Given the description of an element on the screen output the (x, y) to click on. 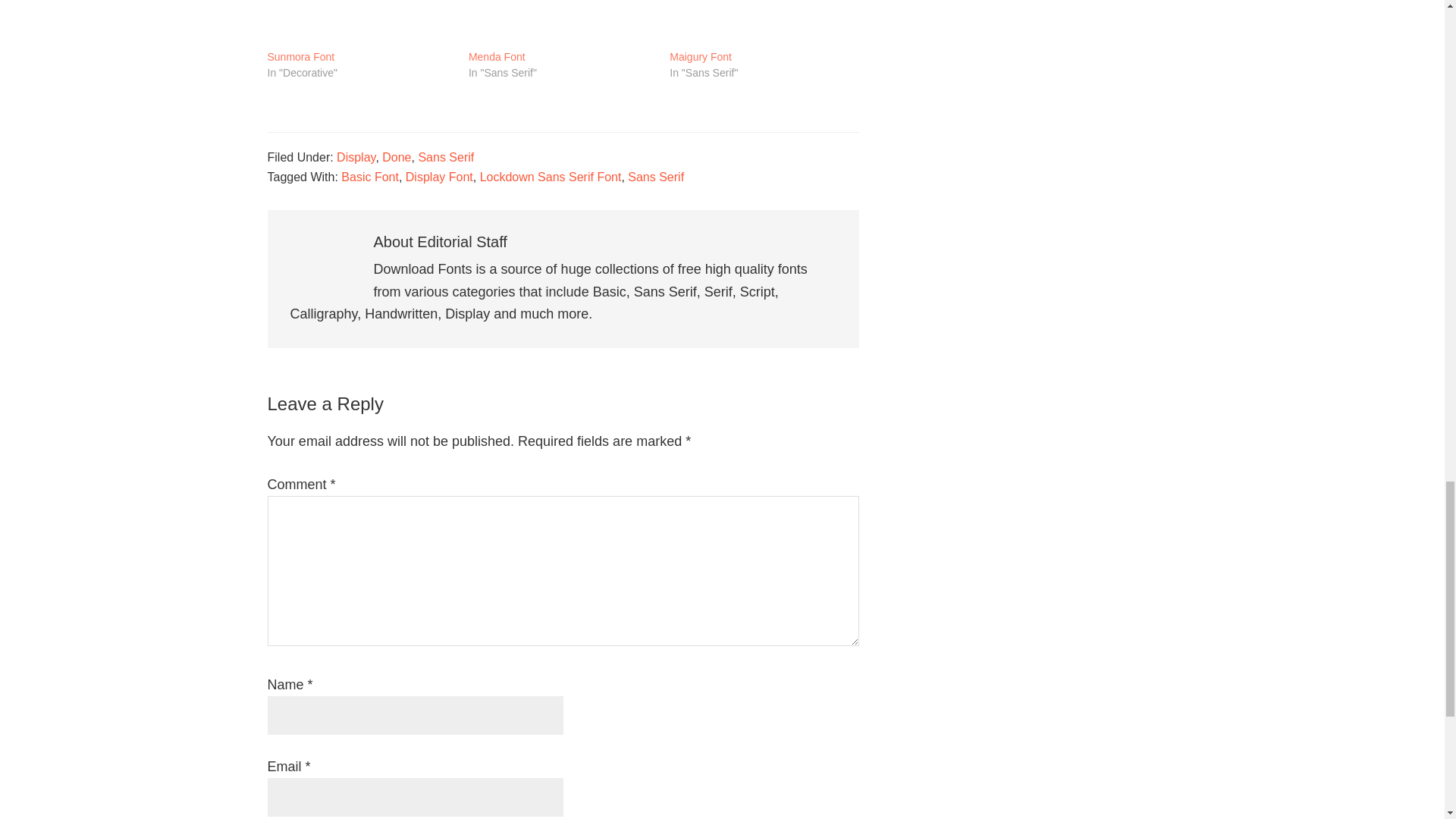
Done (395, 156)
Menda Font (560, 23)
Display (355, 156)
Maigury Font (762, 23)
Sunmora Font (300, 57)
Lockdown Sans Serif Font (550, 176)
Maigury Font (700, 57)
Sunmora Font (359, 23)
Display Font (439, 176)
Menda Font (496, 57)
Sans Serif (445, 156)
Basic Font (369, 176)
